Given the description of an element on the screen output the (x, y) to click on. 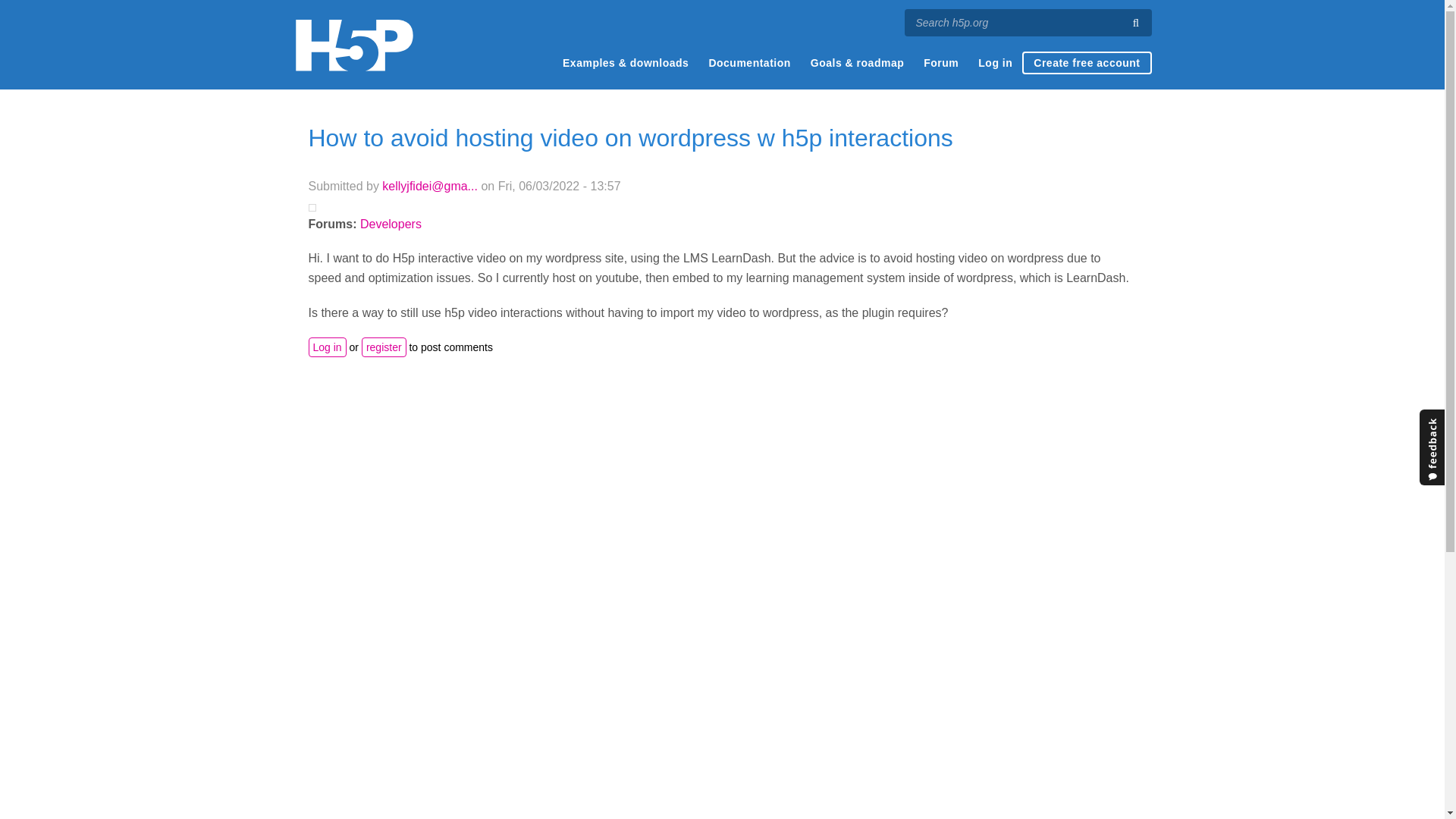
register (383, 347)
Create free account (1086, 62)
Documentation (748, 62)
Developers (390, 223)
Log in (994, 62)
View user profile. (429, 185)
Forum (940, 62)
Log in (326, 347)
Front page (353, 44)
